Given the description of an element on the screen output the (x, y) to click on. 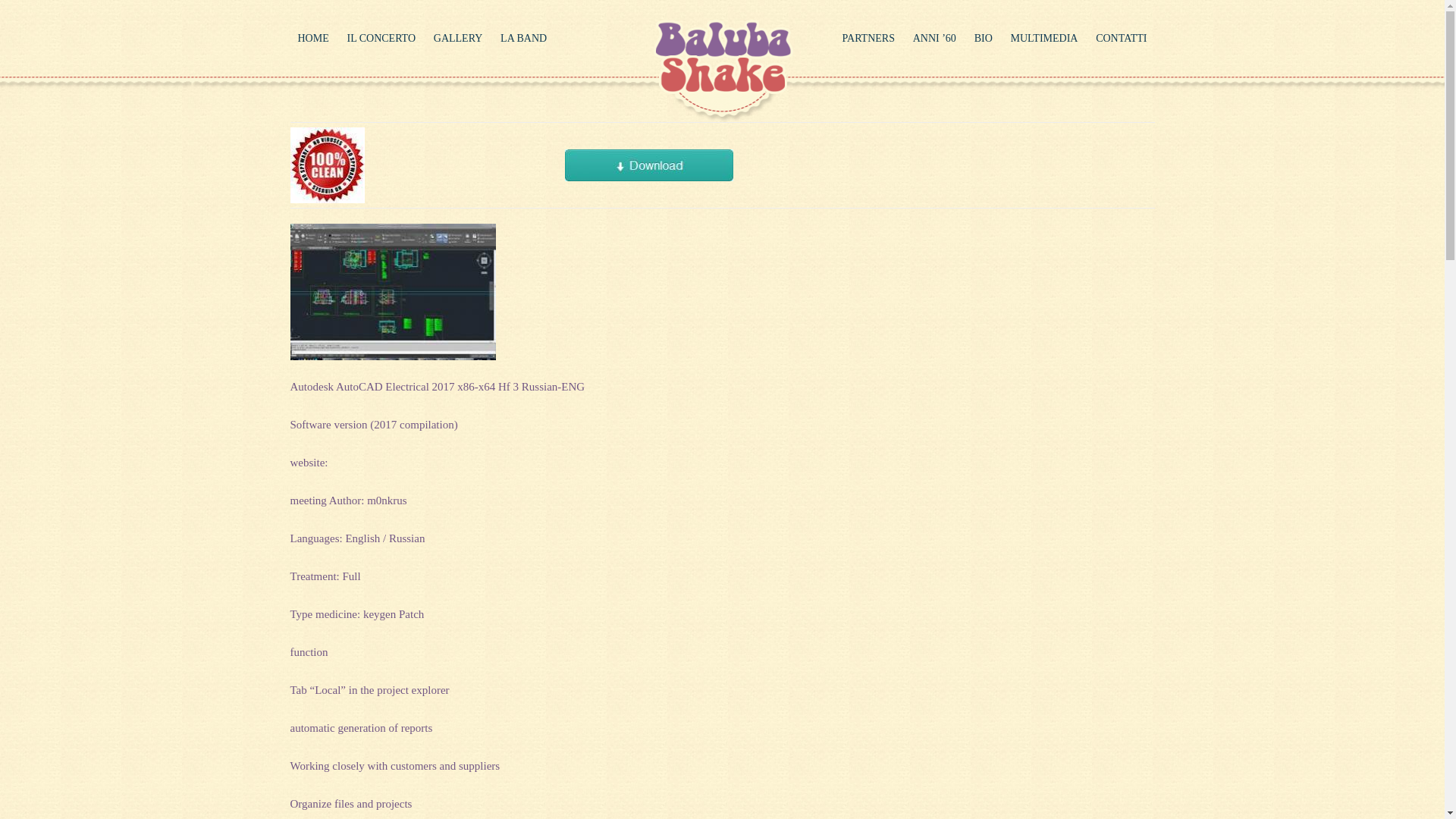
IL CONCERTO (381, 38)
PARTNERS (868, 38)
MULTIMEDIA (1043, 38)
